Given the description of an element on the screen output the (x, y) to click on. 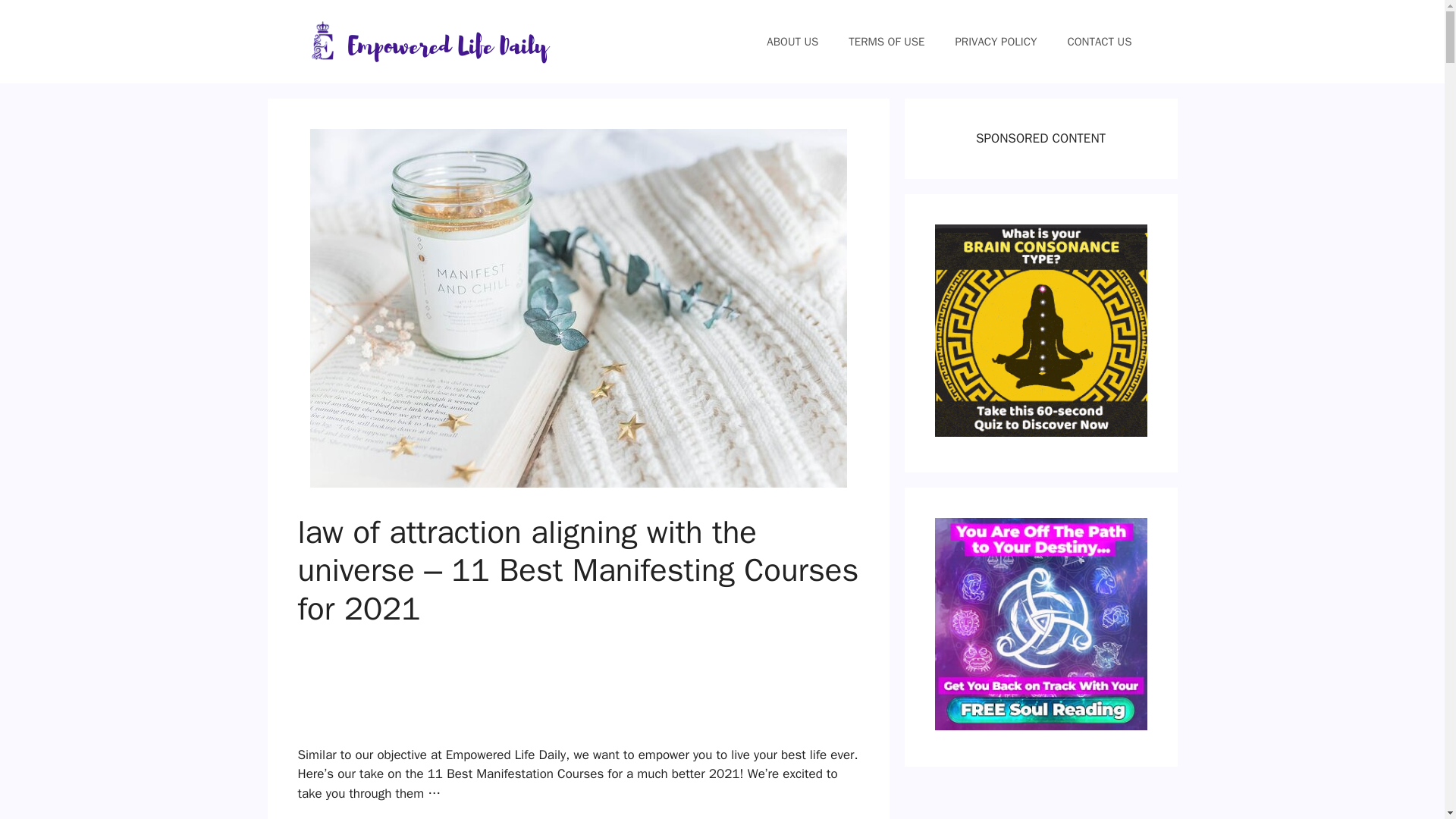
CONTACT US (1099, 41)
PRIVACY POLICY (995, 41)
TERMS OF USE (885, 41)
ABOUT US (791, 41)
